Given the description of an element on the screen output the (x, y) to click on. 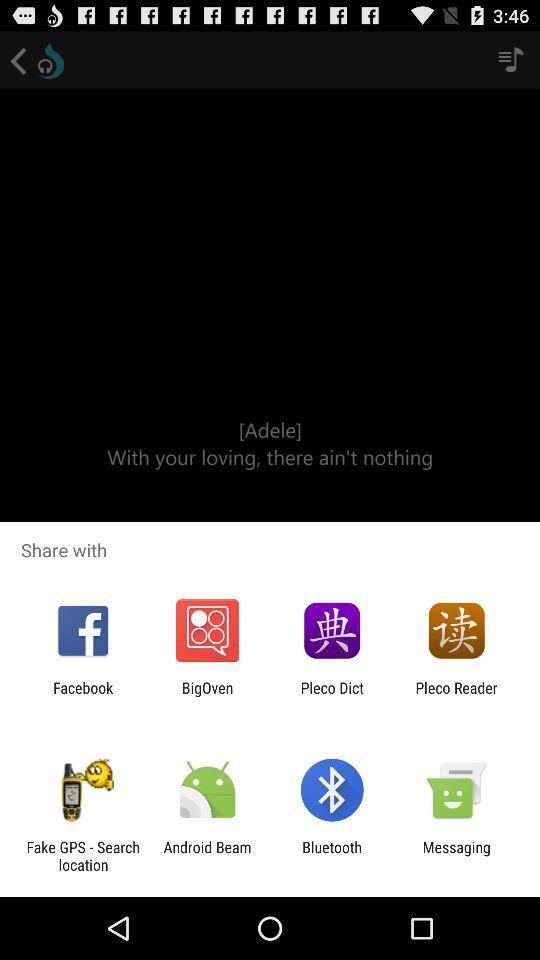
choose app next to bluetooth app (207, 856)
